Given the description of an element on the screen output the (x, y) to click on. 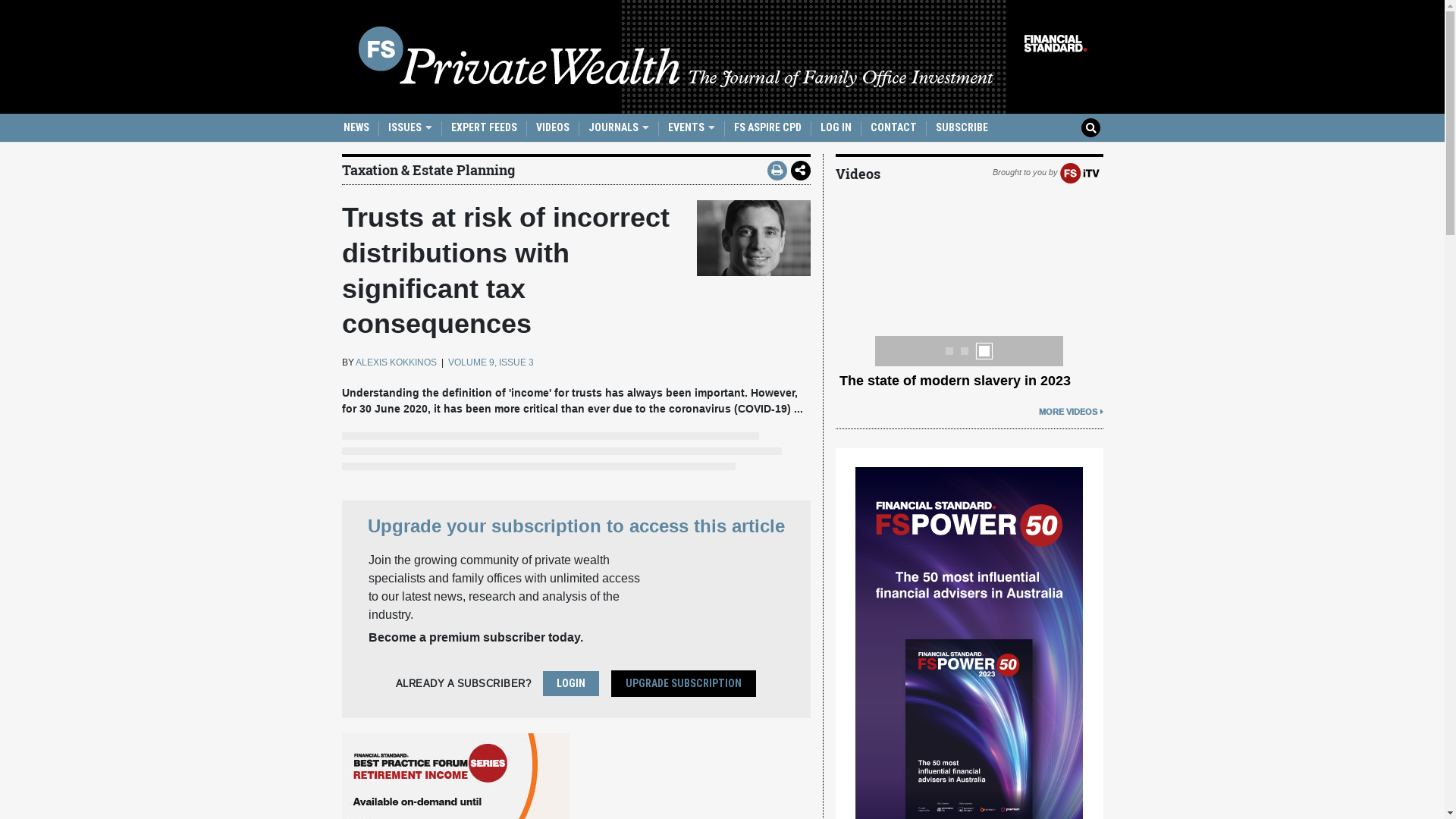
FS Private Wealth Element type: hover (721, 56)
CONTACT Element type: text (893, 127)
Alexis Kokkinos Element type: hover (752, 238)
Growth potential Element type: text (892, 380)
SUBSCRIBE Element type: text (961, 127)
VIDEOS Element type: text (551, 127)
FS ASPIRE CPD Element type: text (767, 127)
UPGRADE SUBSCRIPTION Element type: text (683, 683)
MORE VIDEOS Element type: text (1070, 411)
JOURNALS Element type: text (618, 127)
NEWS Element type: text (355, 127)
LOGIN Element type: text (570, 683)
FSiTV Element type: hover (1079, 171)
ISSUES Element type: text (410, 127)
EXPERT FEEDS Element type: text (483, 127)
LOG IN Element type: text (835, 127)
VOLUME 9, ISSUE 3 Element type: text (490, 362)
Print Element type: hover (777, 170)
ALEXIS KOKKINOS Element type: text (395, 362)
EVENTS Element type: text (690, 127)
